Given the description of an element on the screen output the (x, y) to click on. 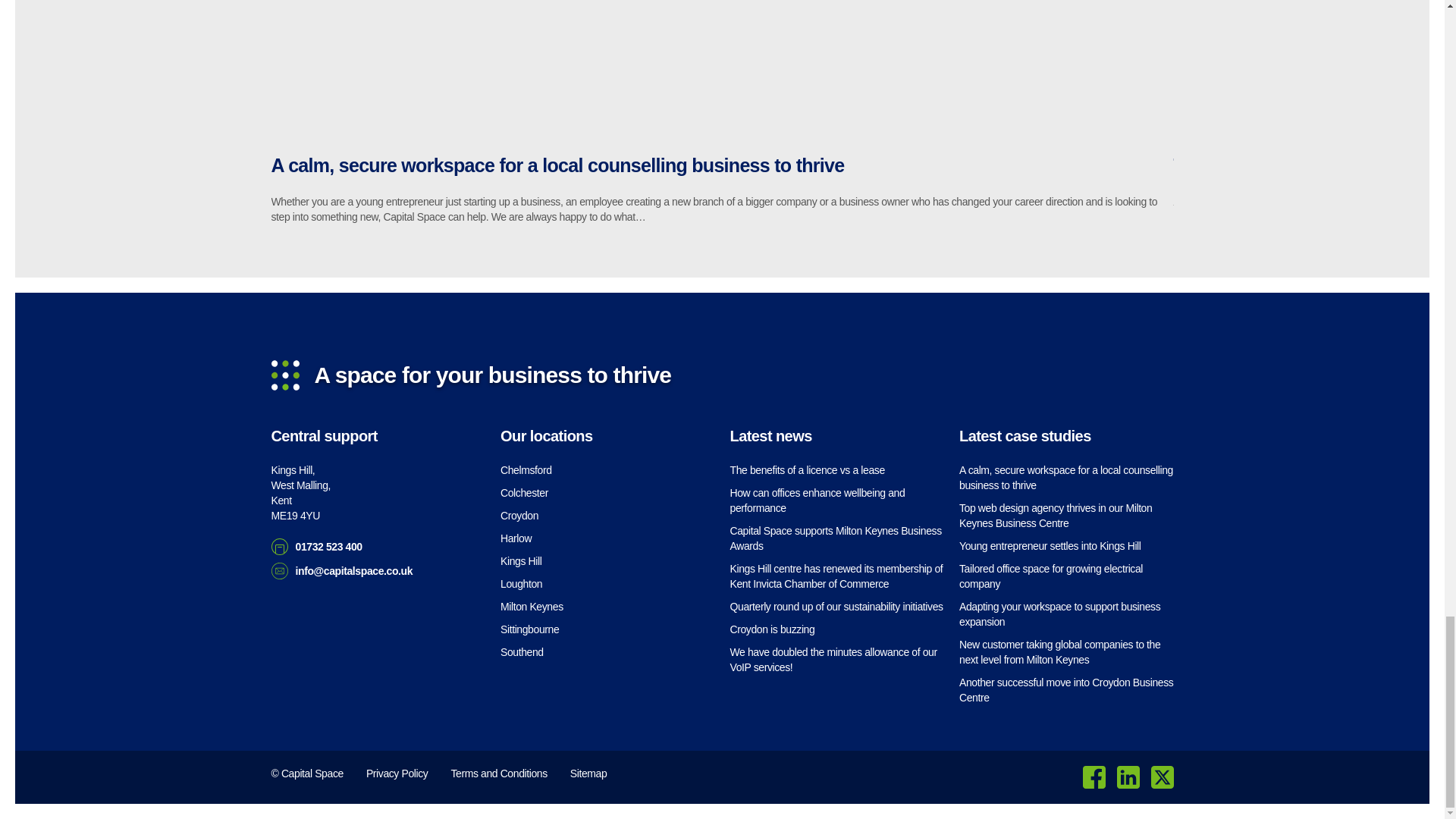
01732 523 400 (300, 492)
